Given the description of an element on the screen output the (x, y) to click on. 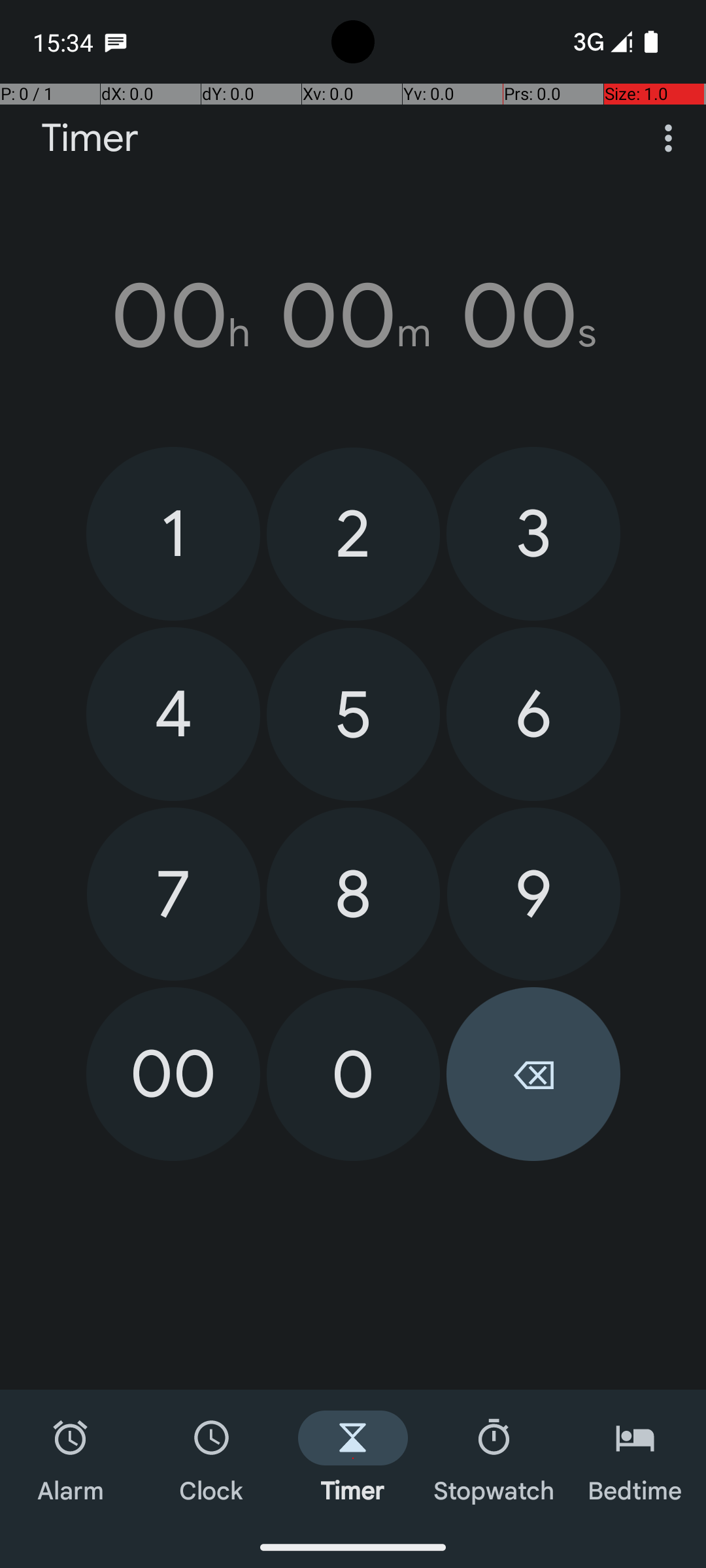
00h 00m 00s Element type: android.widget.TextView (353, 315)
